Given the description of an element on the screen output the (x, y) to click on. 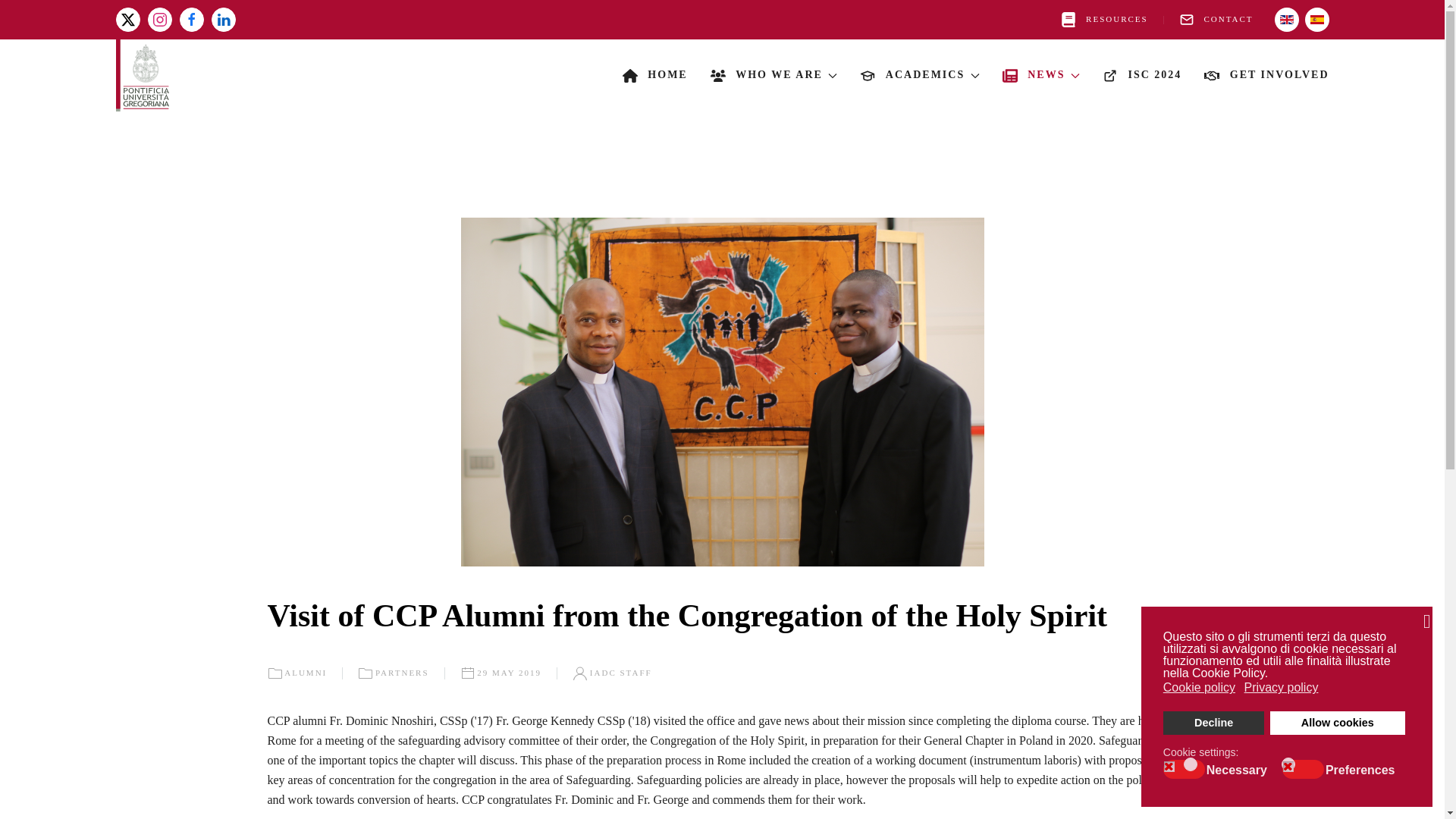
CONTACT (1216, 19)
Allow cookies (1337, 723)
Privacy policy (1282, 687)
Decline (1214, 723)
RESOURCES (1104, 19)
Necessary (1239, 769)
Cookie policy (1200, 687)
Preferences (1361, 769)
